Given the description of an element on the screen output the (x, y) to click on. 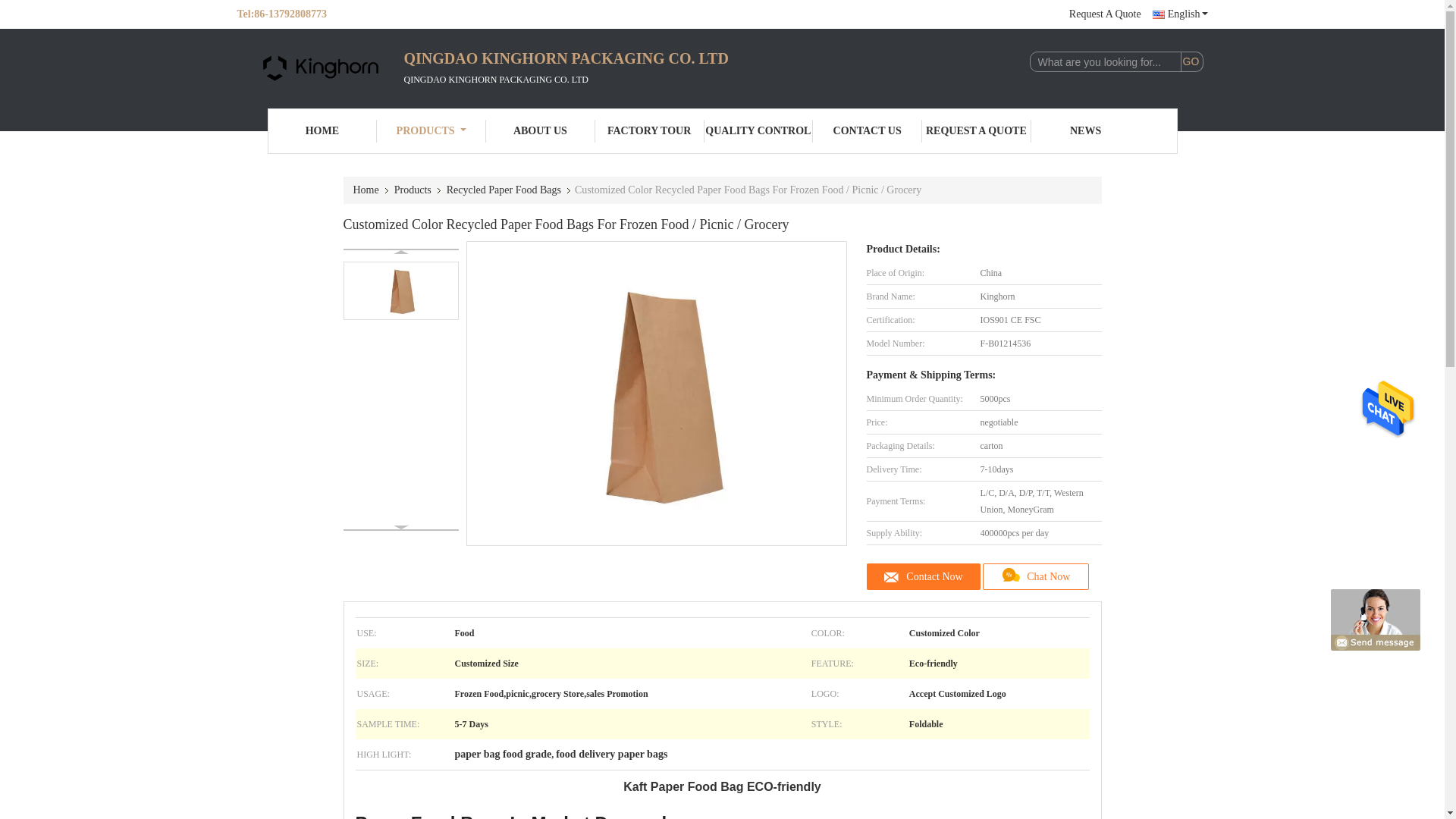
PRODUCTS (431, 130)
HOME (322, 130)
GO (1190, 61)
Request A Quote (1104, 14)
English (1180, 14)
GO (1190, 61)
